Given the description of an element on the screen output the (x, y) to click on. 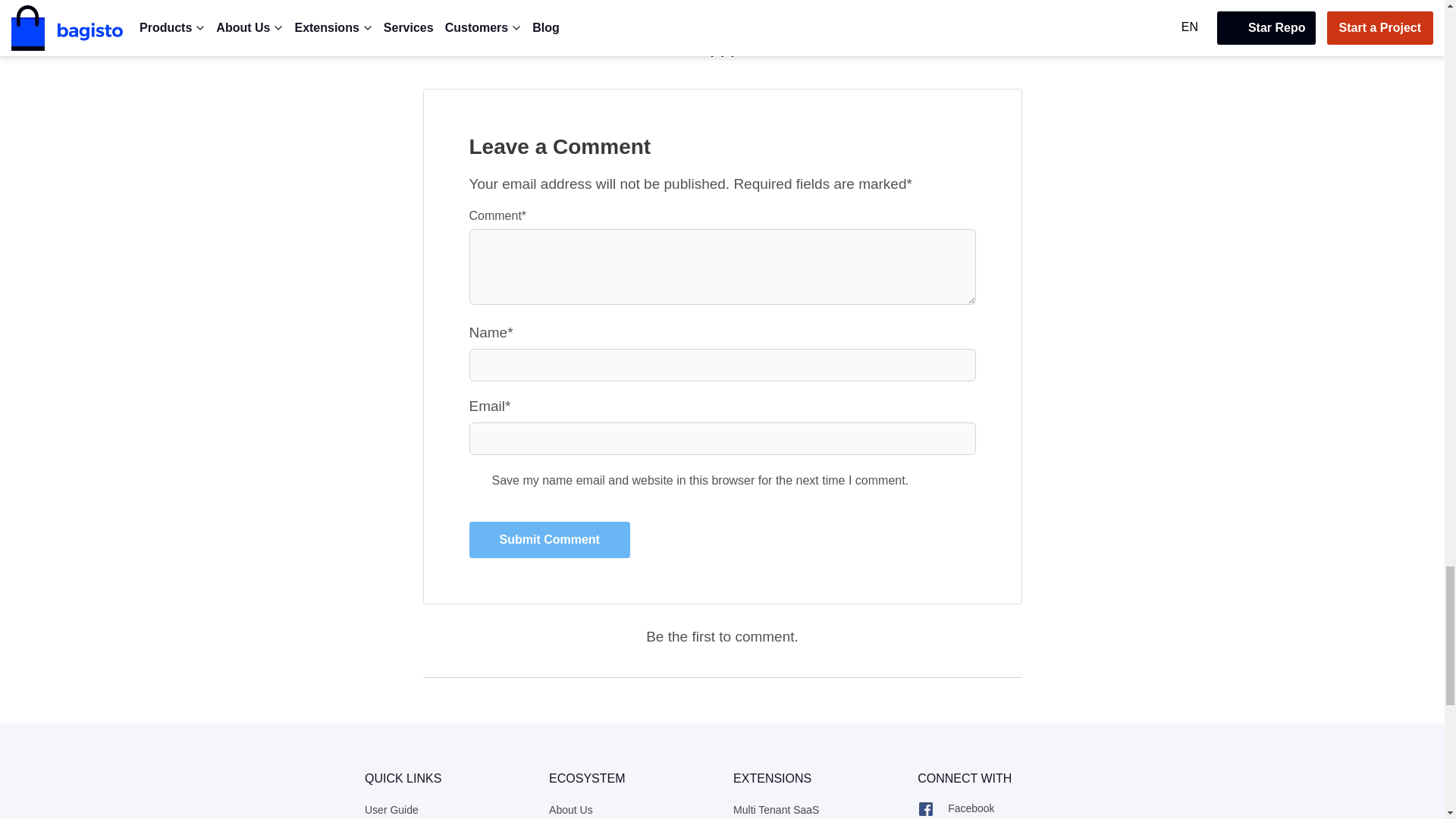
Submit Comment (548, 539)
